Given the description of an element on the screen output the (x, y) to click on. 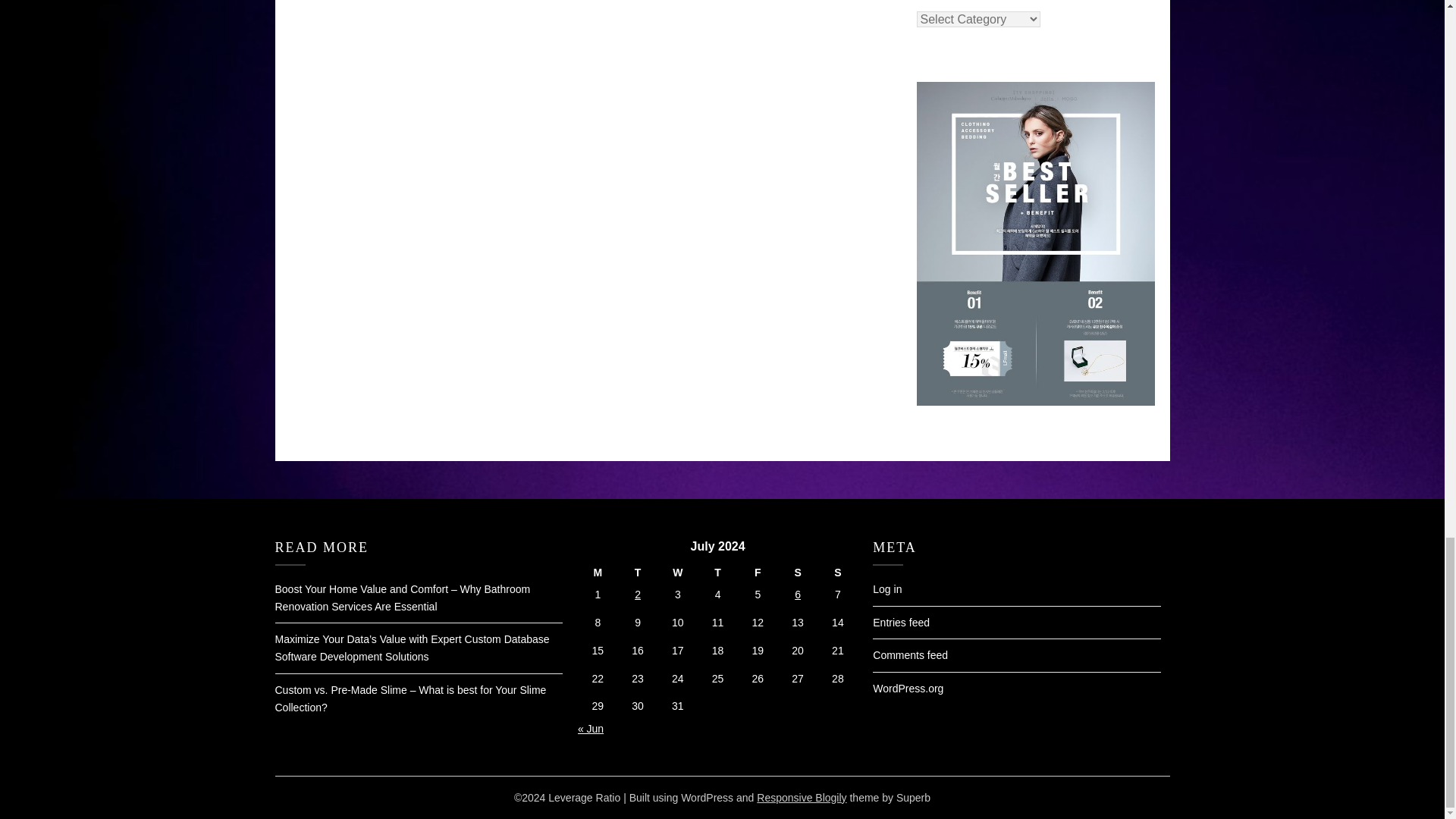
Friday (757, 572)
Saturday (797, 572)
Log in (886, 589)
Wednesday (677, 572)
Responsive Blogily (801, 797)
Comments feed (909, 654)
Entries feed (901, 622)
Thursday (717, 572)
Sunday (836, 572)
WordPress.org (907, 688)
Monday (597, 572)
Tuesday (637, 572)
